Given the description of an element on the screen output the (x, y) to click on. 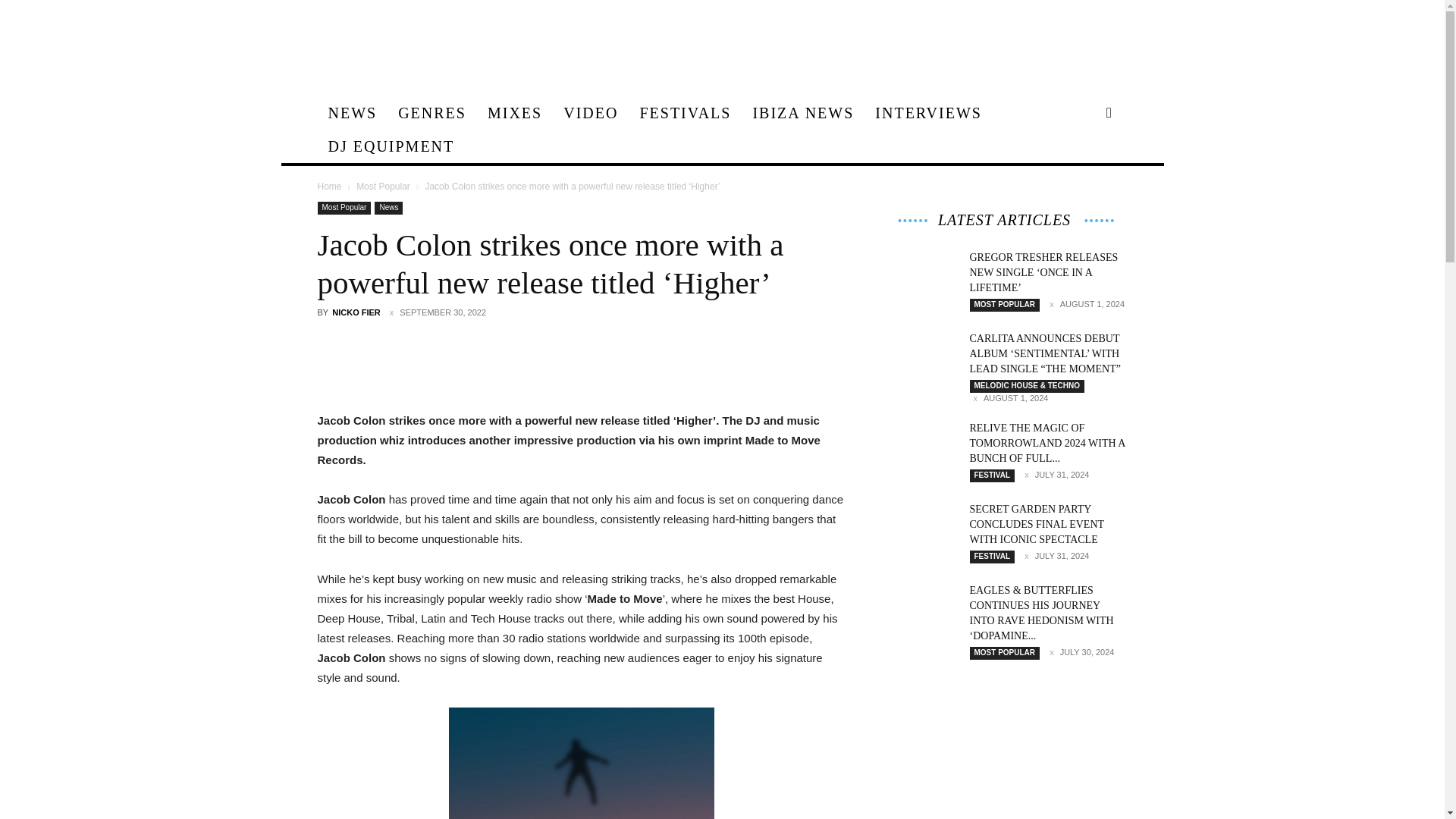
GENRES (432, 112)
NEWS (352, 112)
